Given the description of an element on the screen output the (x, y) to click on. 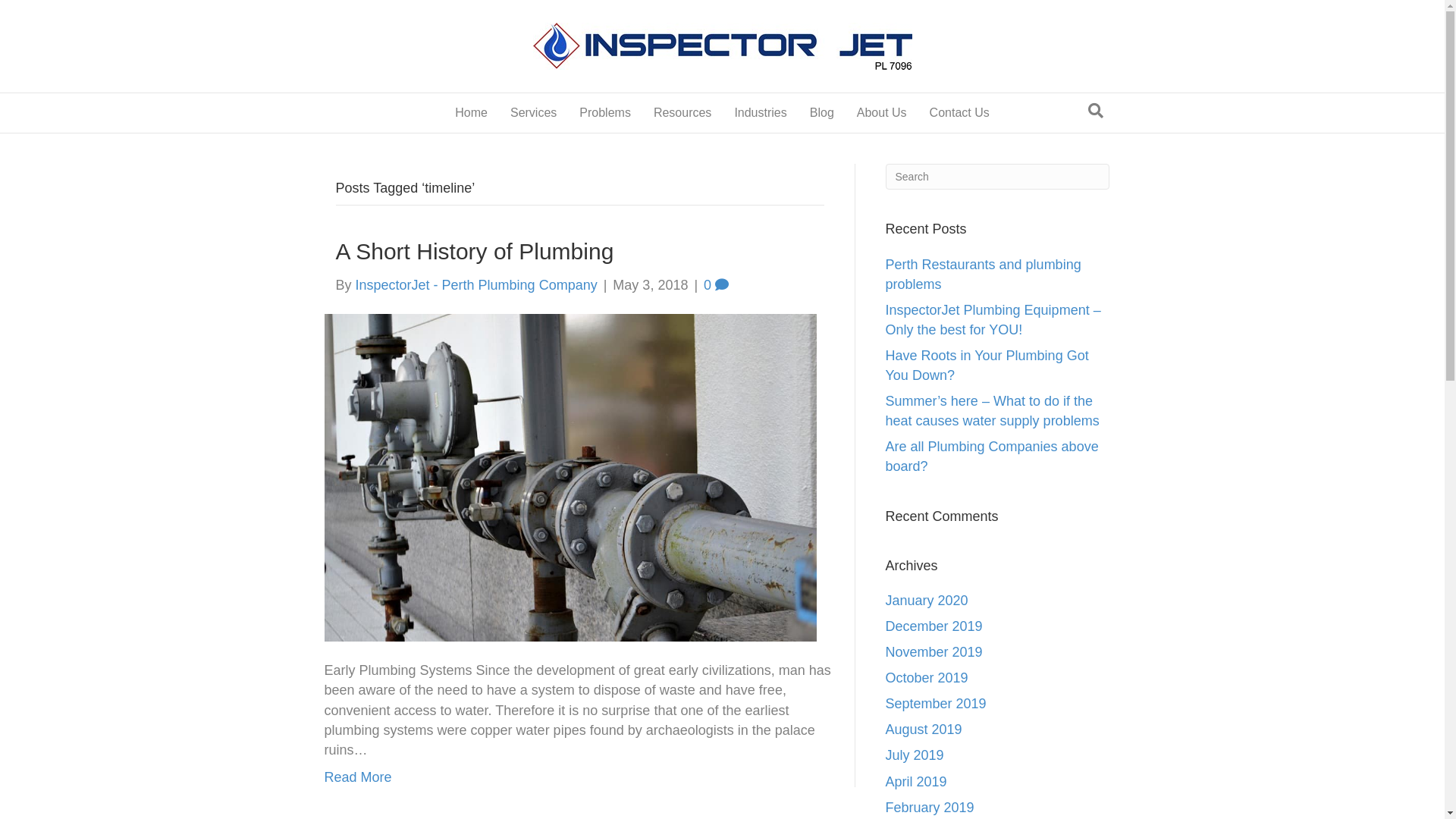
October 2019 Element type: text (926, 677)
Home Element type: text (470, 112)
December 2019 Element type: text (933, 625)
July 2019 Element type: text (914, 754)
A Short History of Plumbing Element type: text (474, 250)
A Short History of Plumbing Element type: hover (570, 476)
Are all Plumbing Companies above board? Element type: text (991, 456)
Problems Element type: text (604, 112)
Contact Us Element type: text (959, 112)
Have Roots in Your Plumbing Got You Down? Element type: text (986, 365)
InspectorJet - Perth Plumbing Company Element type: text (476, 284)
Blog Element type: text (821, 112)
February 2019 Element type: text (929, 807)
0 Element type: text (715, 284)
About Us Element type: text (881, 112)
August 2019 Element type: text (923, 729)
Read More Element type: text (358, 776)
Industries Element type: text (759, 112)
Type and press Enter to search. Element type: hover (997, 176)
November 2019 Element type: text (933, 651)
Services Element type: text (532, 112)
Resources Element type: text (682, 112)
April 2019 Element type: text (916, 781)
Perth Restaurants and plumbing problems Element type: text (983, 274)
September 2019 Element type: text (935, 703)
January 2020 Element type: text (926, 600)
